Given the description of an element on the screen output the (x, y) to click on. 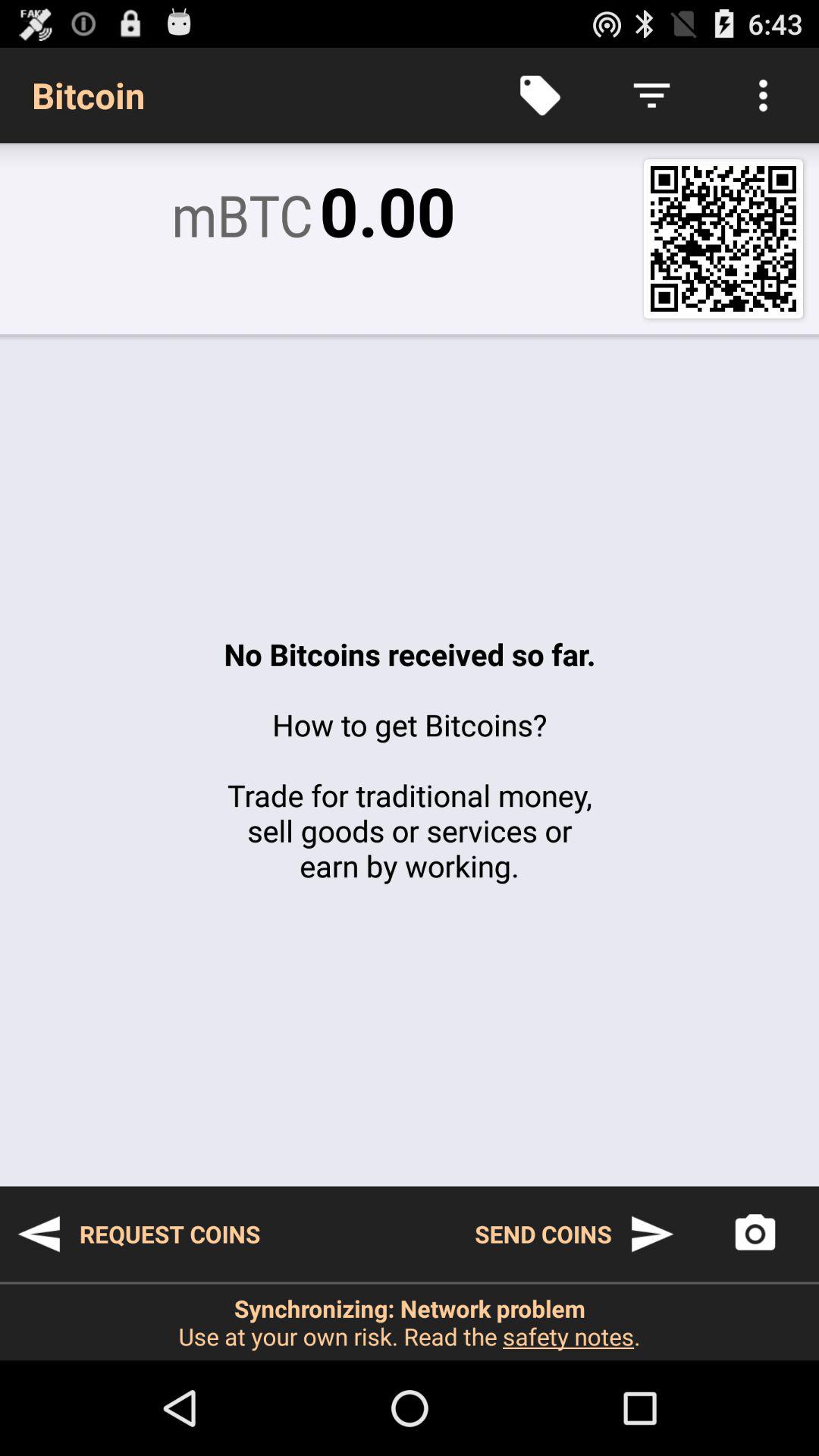
flip to send coins (574, 1233)
